Given the description of an element on the screen output the (x, y) to click on. 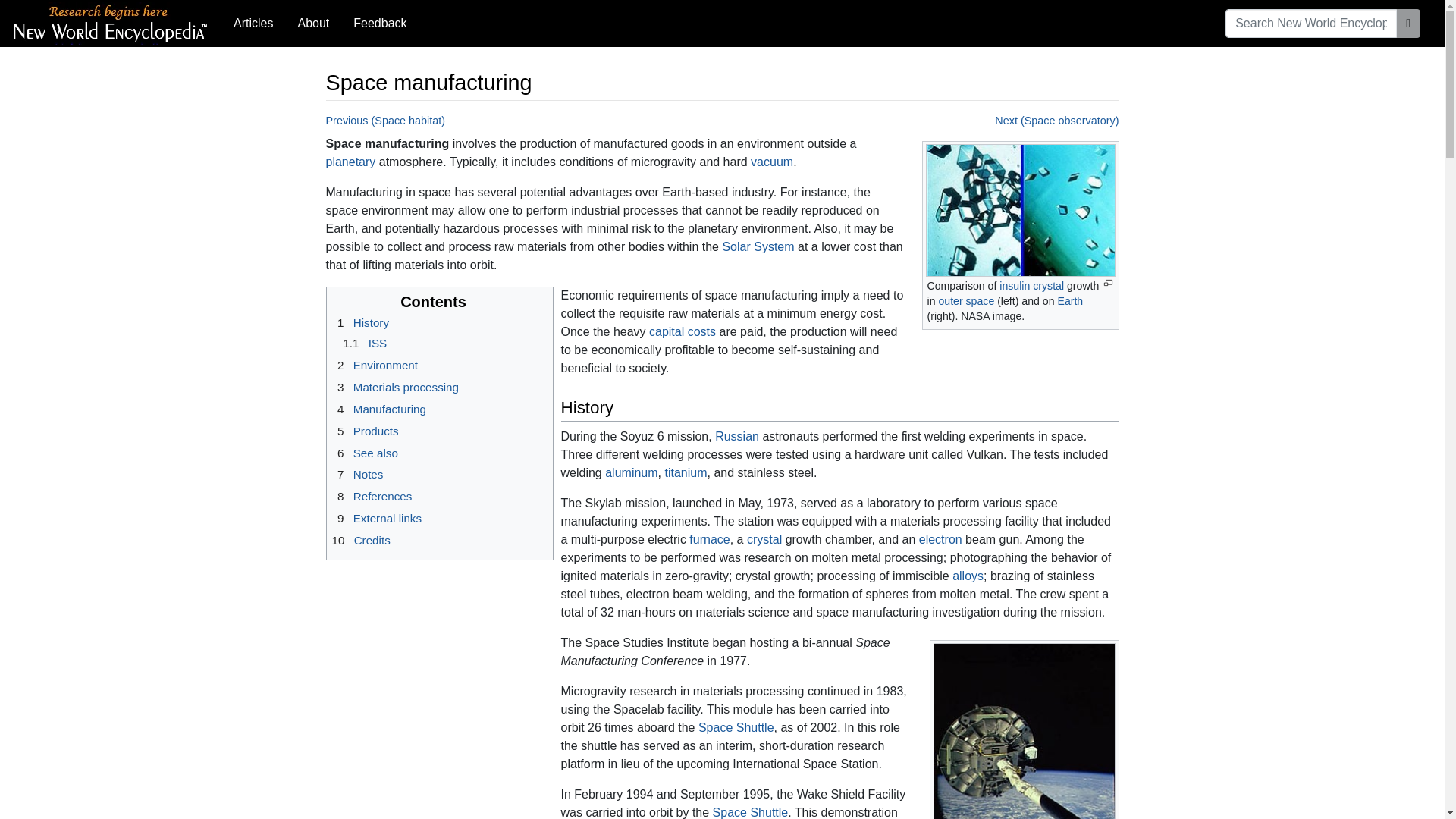
aluminum (631, 472)
1.1 ISS (362, 342)
planetary (350, 161)
7 Notes (357, 473)
Vacuum (772, 161)
outer space (965, 300)
9 External links (376, 517)
Solar System (757, 246)
Russia (736, 436)
Crystal (1048, 285)
Insulin (1013, 285)
insulin (1013, 285)
crystal (1048, 285)
Titanium (684, 472)
Space observatory (1056, 120)
